Given the description of an element on the screen output the (x, y) to click on. 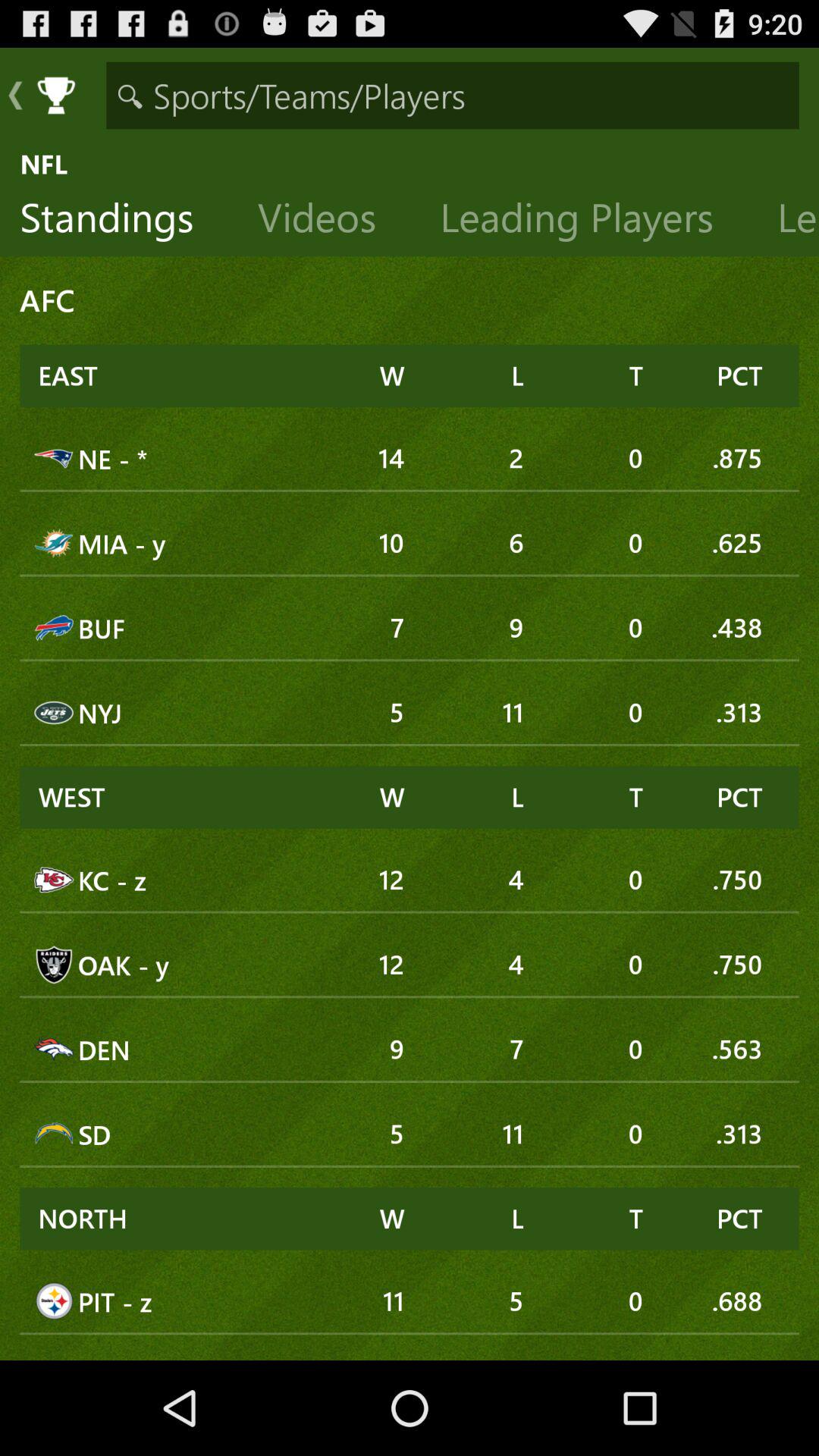
select the icon which is before sd (54, 1133)
select the image which is at  bottom left corner (54, 1300)
